Given the description of an element on the screen output the (x, y) to click on. 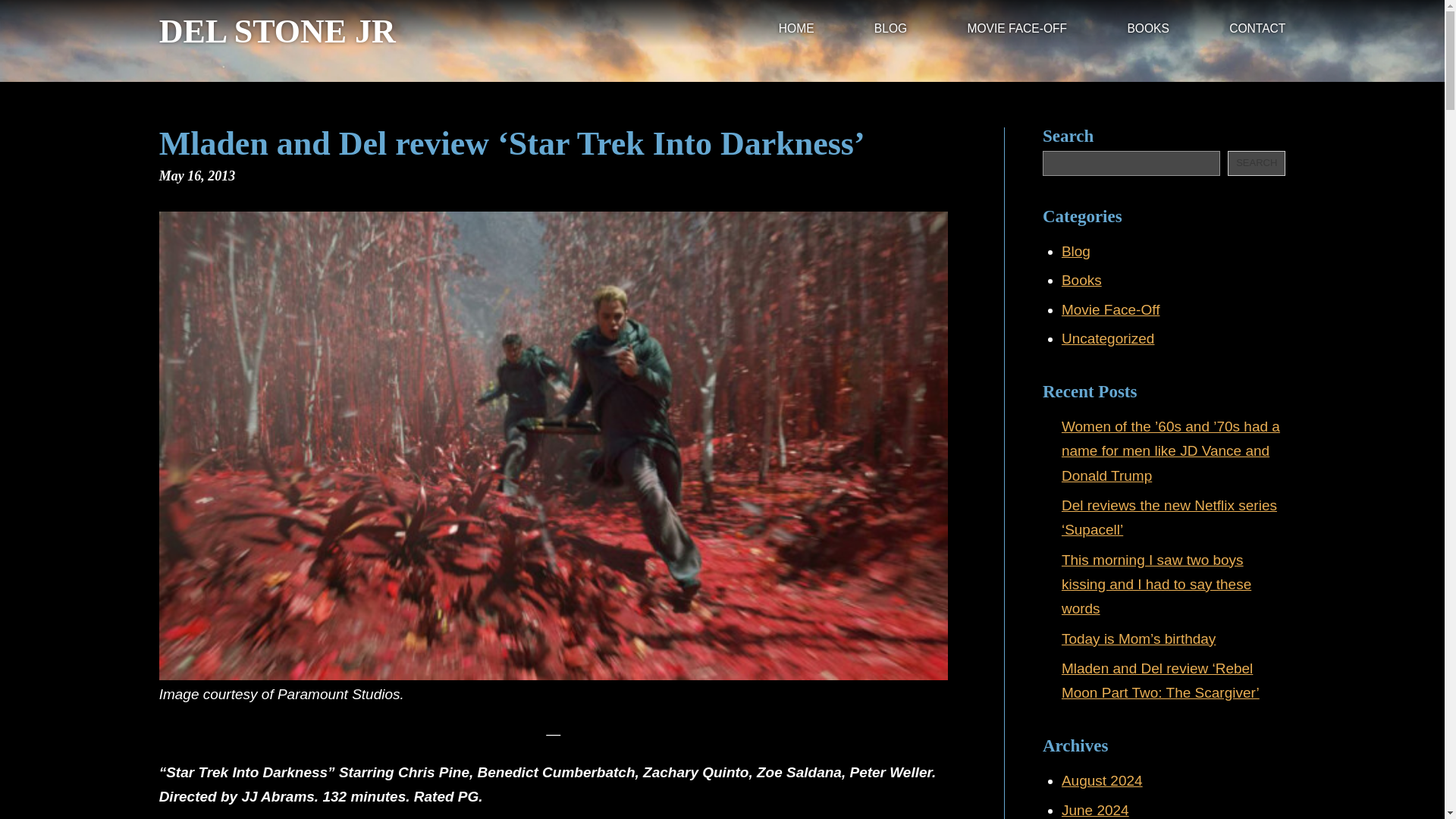
MOVIE FACE-OFF (1016, 29)
BOOKS (1147, 29)
HOME (795, 29)
DEL STONE JR (277, 32)
SEARCH (1256, 163)
August 2024 (1101, 780)
CONTACT (1256, 29)
Movie Face-Off (1110, 309)
June 2024 (1095, 810)
Blog (1075, 251)
